Given the description of an element on the screen output the (x, y) to click on. 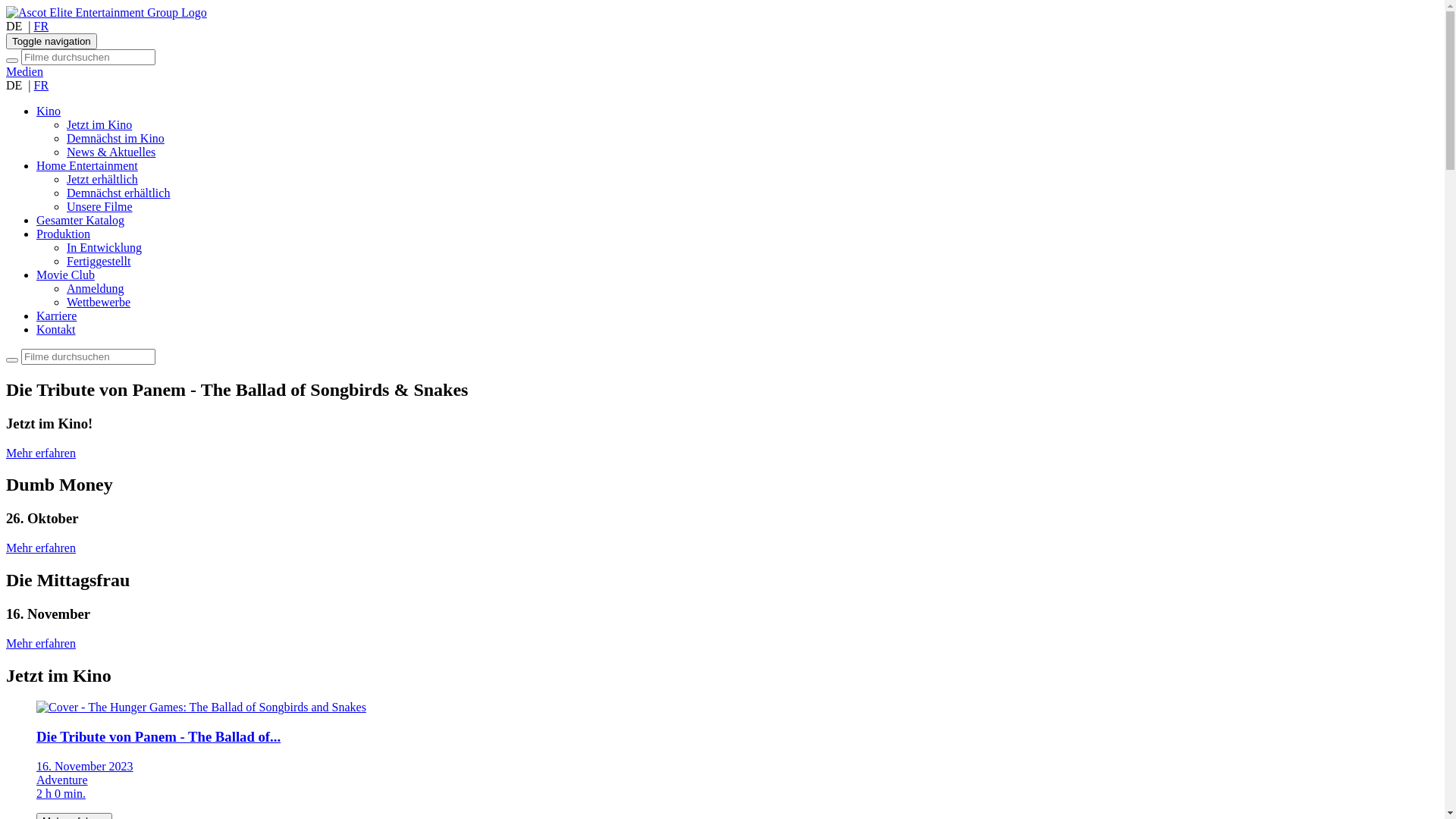
Kino Element type: text (48, 110)
Karriere Element type: text (56, 315)
Wettbewerbe Element type: text (98, 301)
Fertiggestellt Element type: text (98, 260)
FR Element type: text (41, 25)
News & Aktuelles Element type: text (110, 151)
Gesamter Katalog Element type: text (80, 219)
Jetzt im Kino Element type: text (98, 124)
FR Element type: text (41, 84)
Mehr erfahren Element type: text (40, 643)
Home Entertainment Element type: text (87, 165)
Movie Club Element type: text (65, 274)
Toggle navigation Element type: text (51, 41)
Medien Element type: text (24, 71)
Anmeldung Element type: text (95, 288)
Produktion Element type: text (63, 233)
Unsere Filme Element type: text (99, 206)
Mehr erfahren Element type: text (40, 452)
Kontakt Element type: text (55, 329)
Mehr erfahren Element type: text (40, 547)
In Entwicklung Element type: text (103, 247)
